Given the description of an element on the screen output the (x, y) to click on. 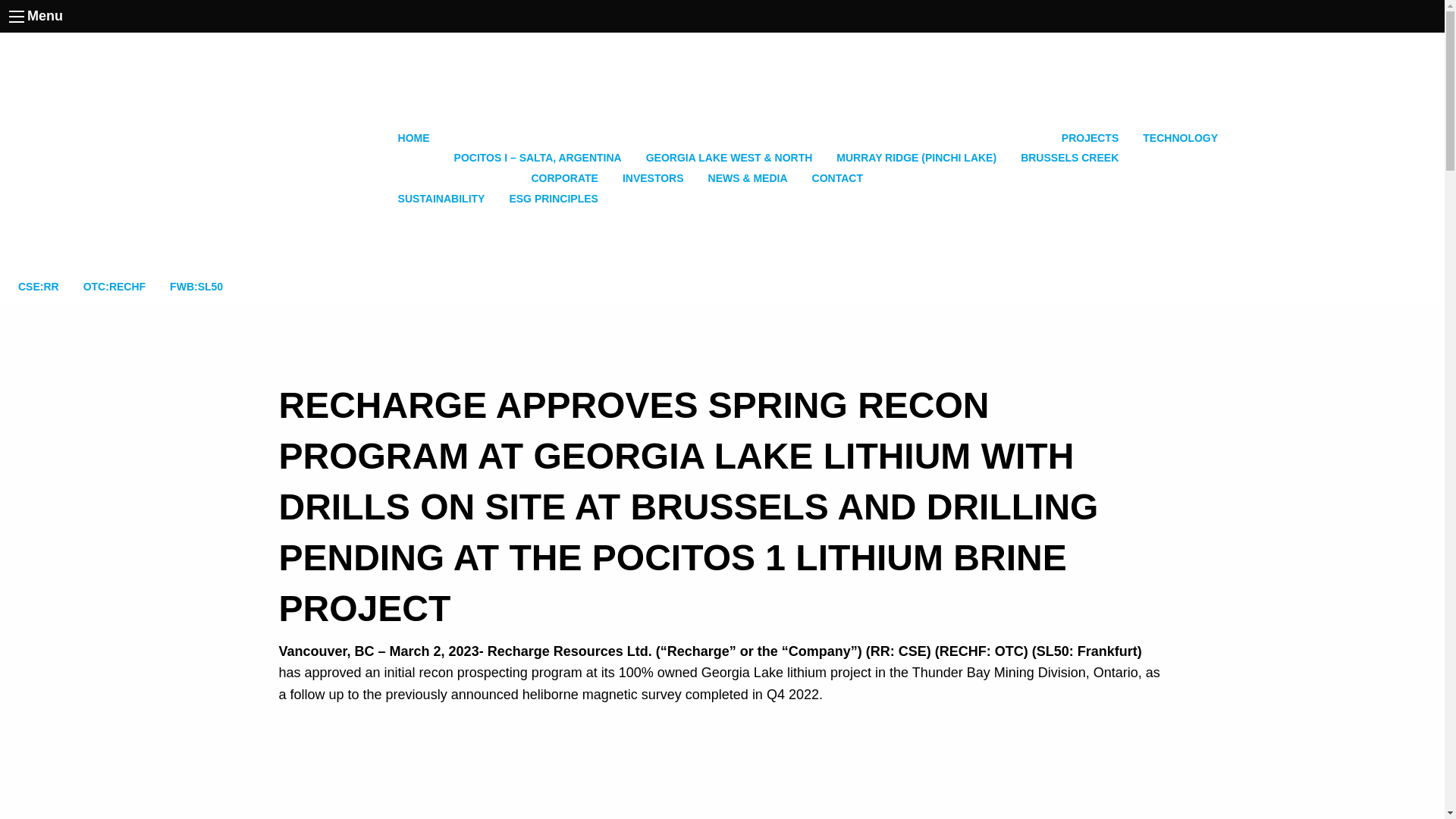
PROJECTS (786, 137)
CSE:RR (38, 286)
OTC:RECHF (114, 286)
CONTACT (837, 178)
ESG PRINCIPLES (553, 199)
TECHNOLOGY (1180, 137)
CORPORATE (497, 178)
BRUSSELS CREEK (1070, 158)
INVESTORS (652, 178)
FWB:SL50 (195, 286)
